Given the description of an element on the screen output the (x, y) to click on. 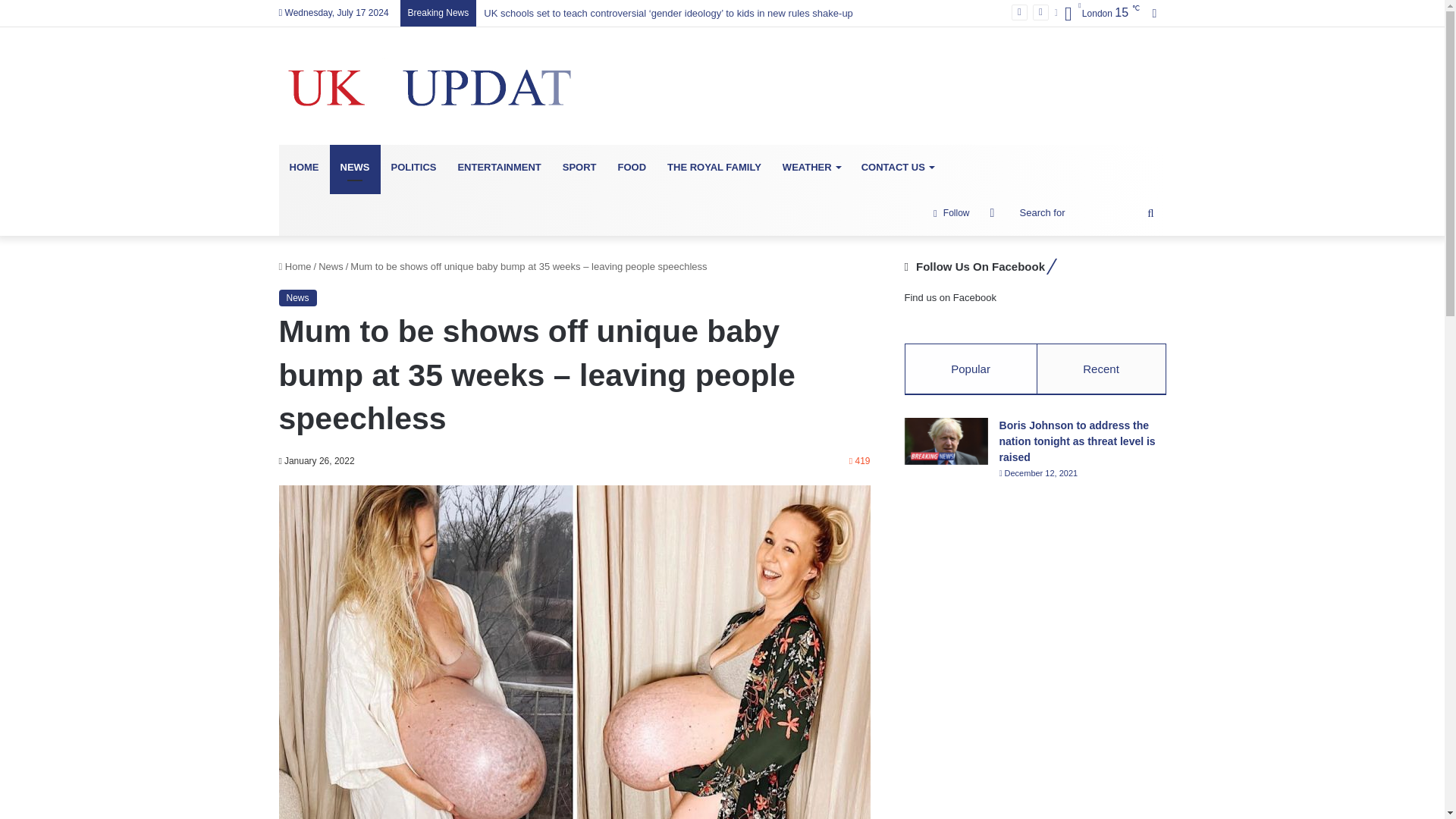
Popular (970, 368)
Search for (1150, 212)
WEATHER (810, 167)
News (330, 266)
FOOD (632, 167)
CONTACT US (896, 167)
Follow (950, 212)
SPORT (579, 167)
NEWS (354, 167)
Switch skin (992, 212)
Search for (1088, 212)
Switch skin (992, 212)
Sidebar (1154, 13)
News (298, 297)
THE ROYAL FAMILY (713, 167)
